Given the description of an element on the screen output the (x, y) to click on. 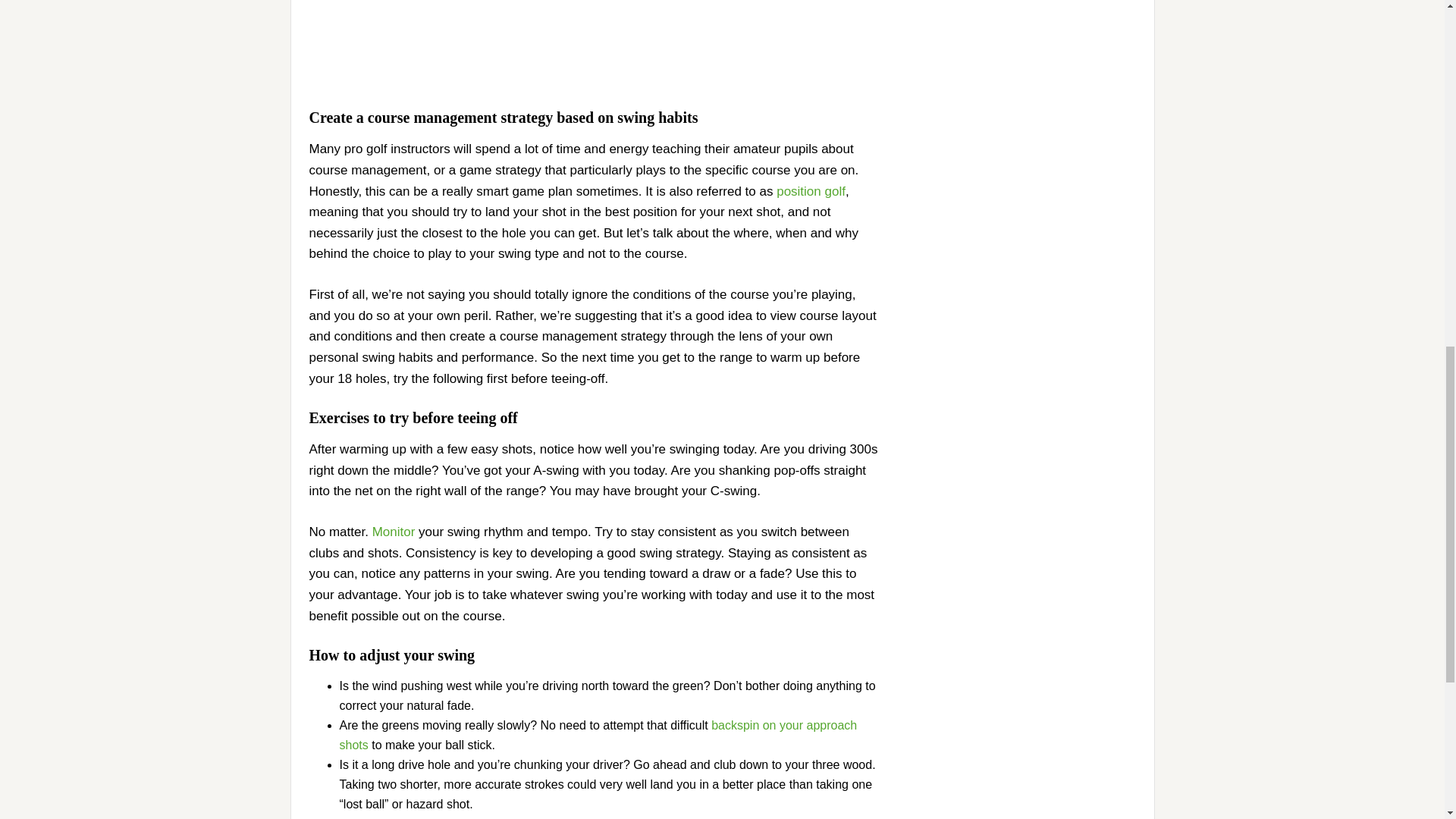
Monitor (393, 531)
position golf (810, 190)
Advertisement (594, 41)
backspin on your approach shots (598, 735)
